Given the description of an element on the screen output the (x, y) to click on. 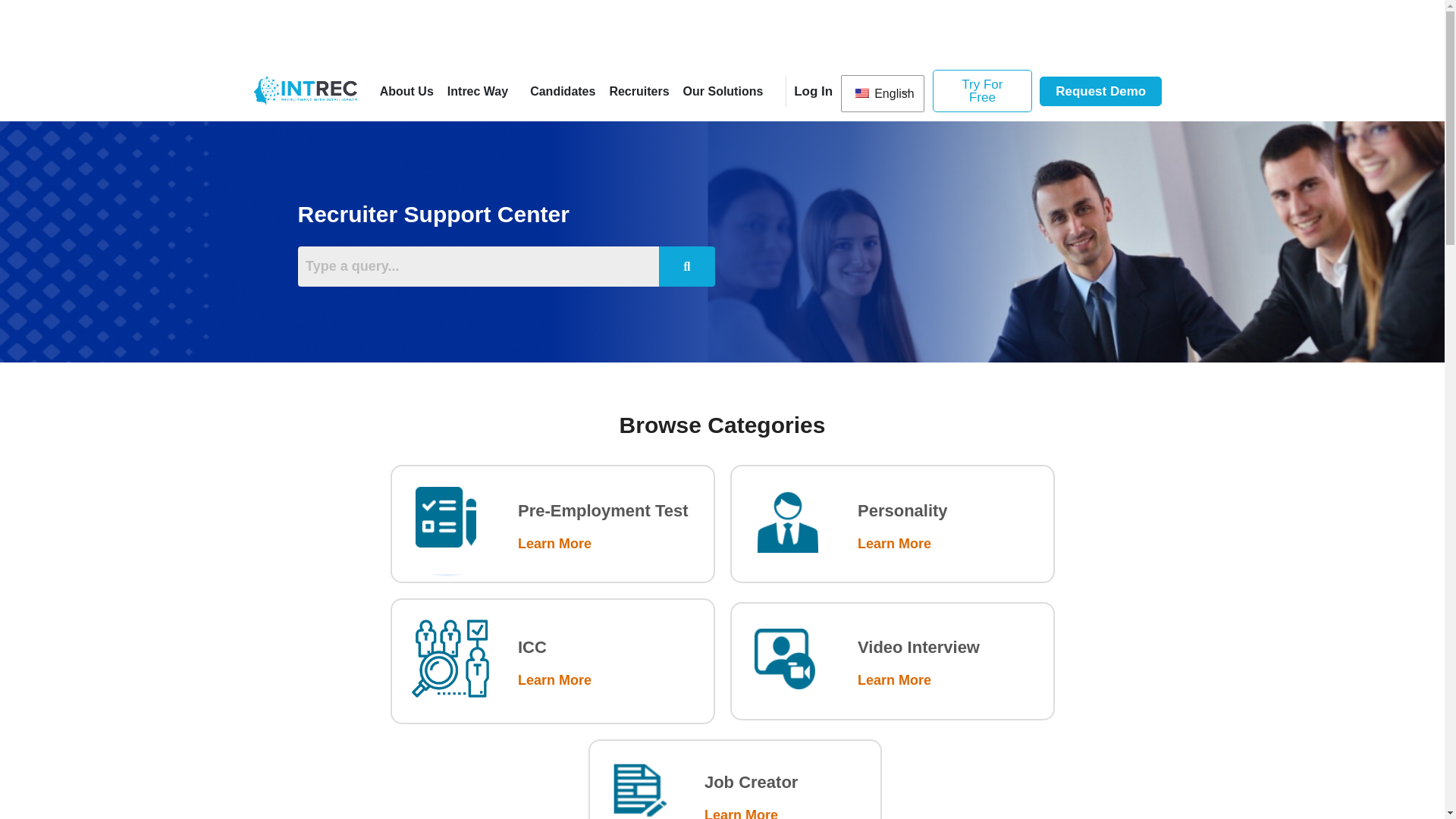
Recruiters (638, 90)
Intrec Way (481, 90)
Log In (812, 90)
English (862, 92)
Our Solutions (723, 90)
About Us (406, 90)
English (882, 93)
English (882, 93)
Try For Free (982, 90)
Request Demo (1100, 90)
Candidates (562, 90)
